Given the description of an element on the screen output the (x, y) to click on. 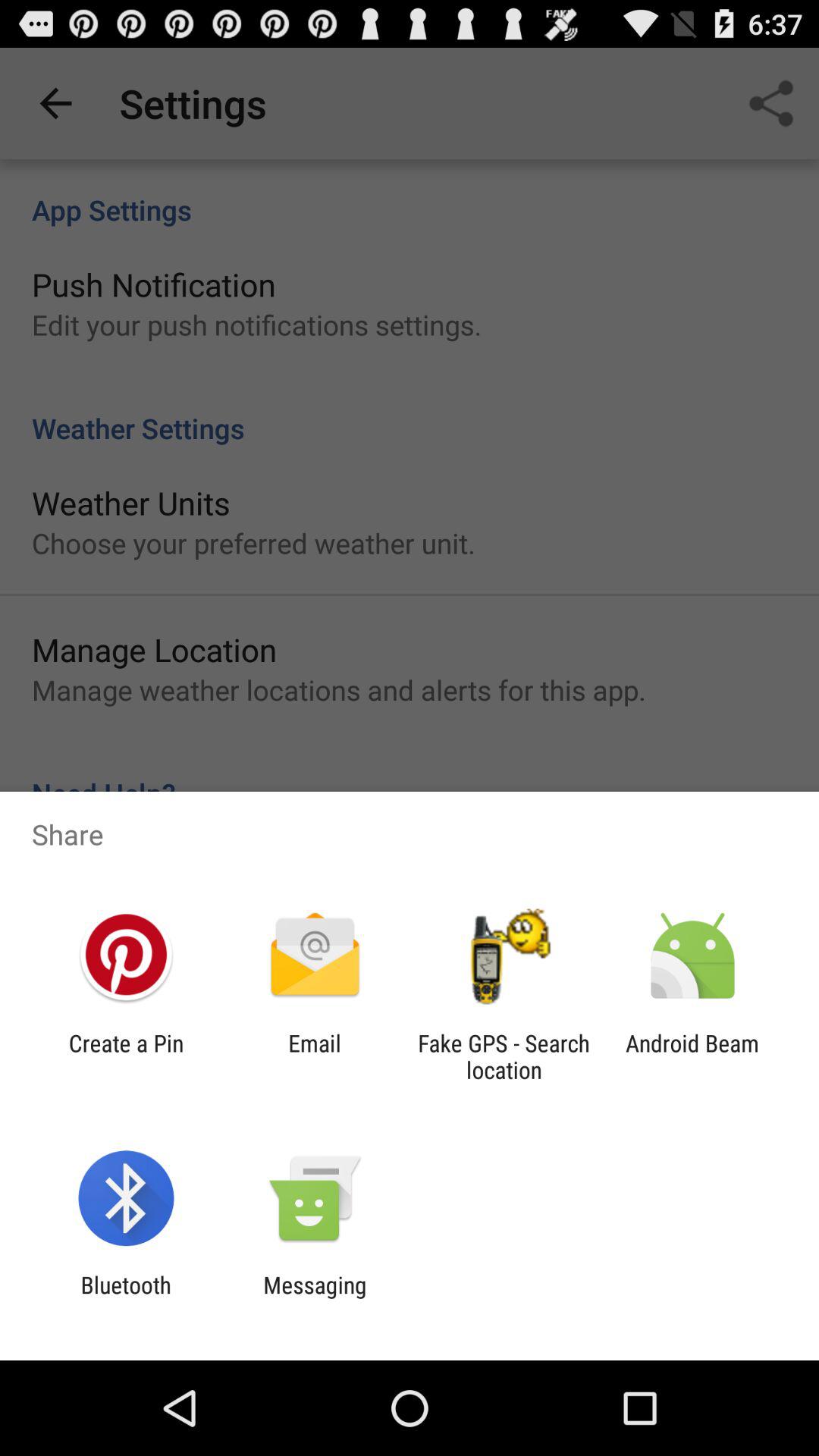
flip to create a pin icon (125, 1056)
